Given the description of an element on the screen output the (x, y) to click on. 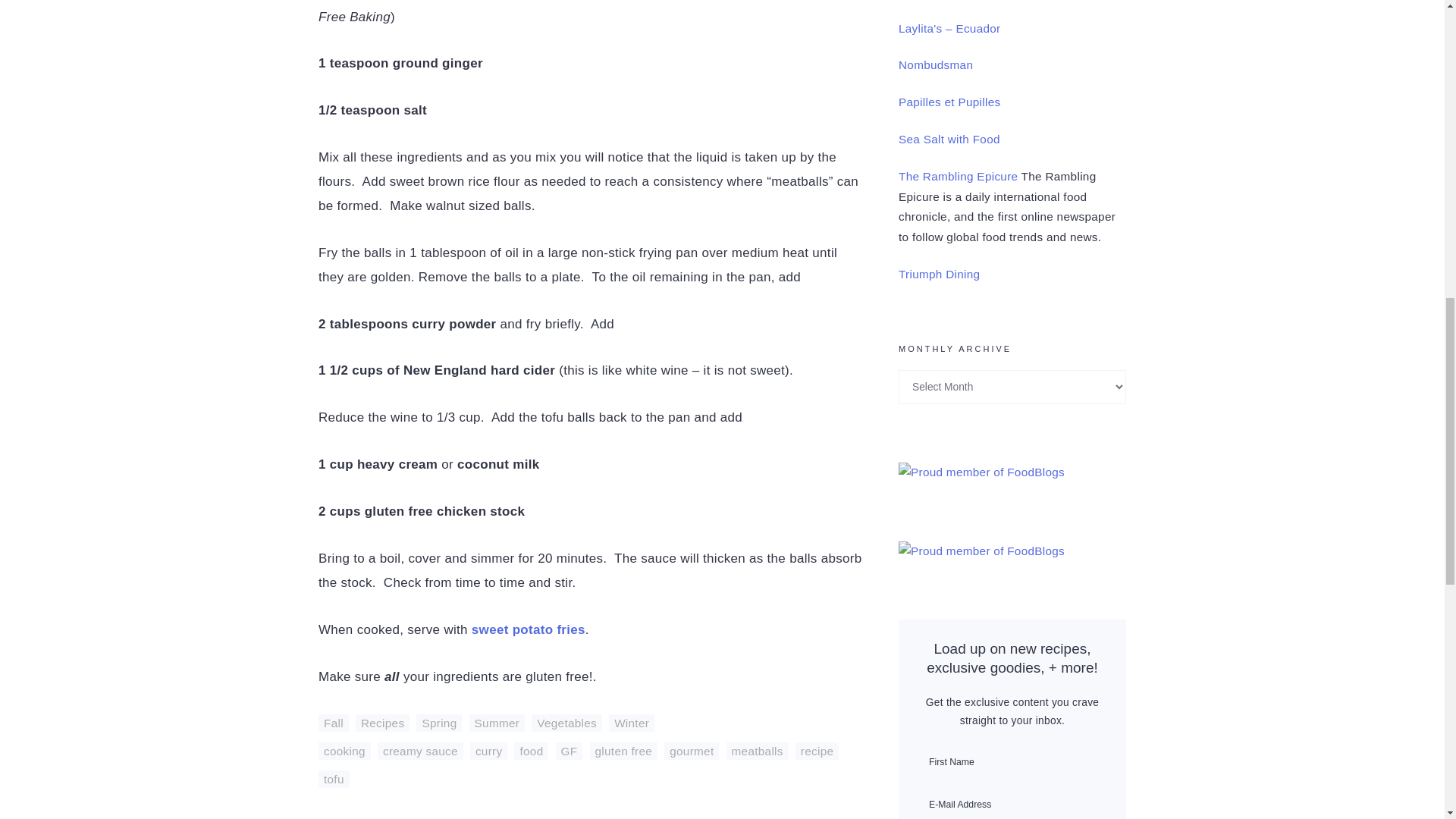
GF (569, 751)
gourmet (691, 751)
tofu (333, 778)
creamy sauce (420, 751)
meatballs (757, 751)
Recipes (382, 723)
Winter (630, 723)
Vegetables (566, 723)
food (530, 751)
Sweet Potato Fries (528, 629)
